Given the description of an element on the screen output the (x, y) to click on. 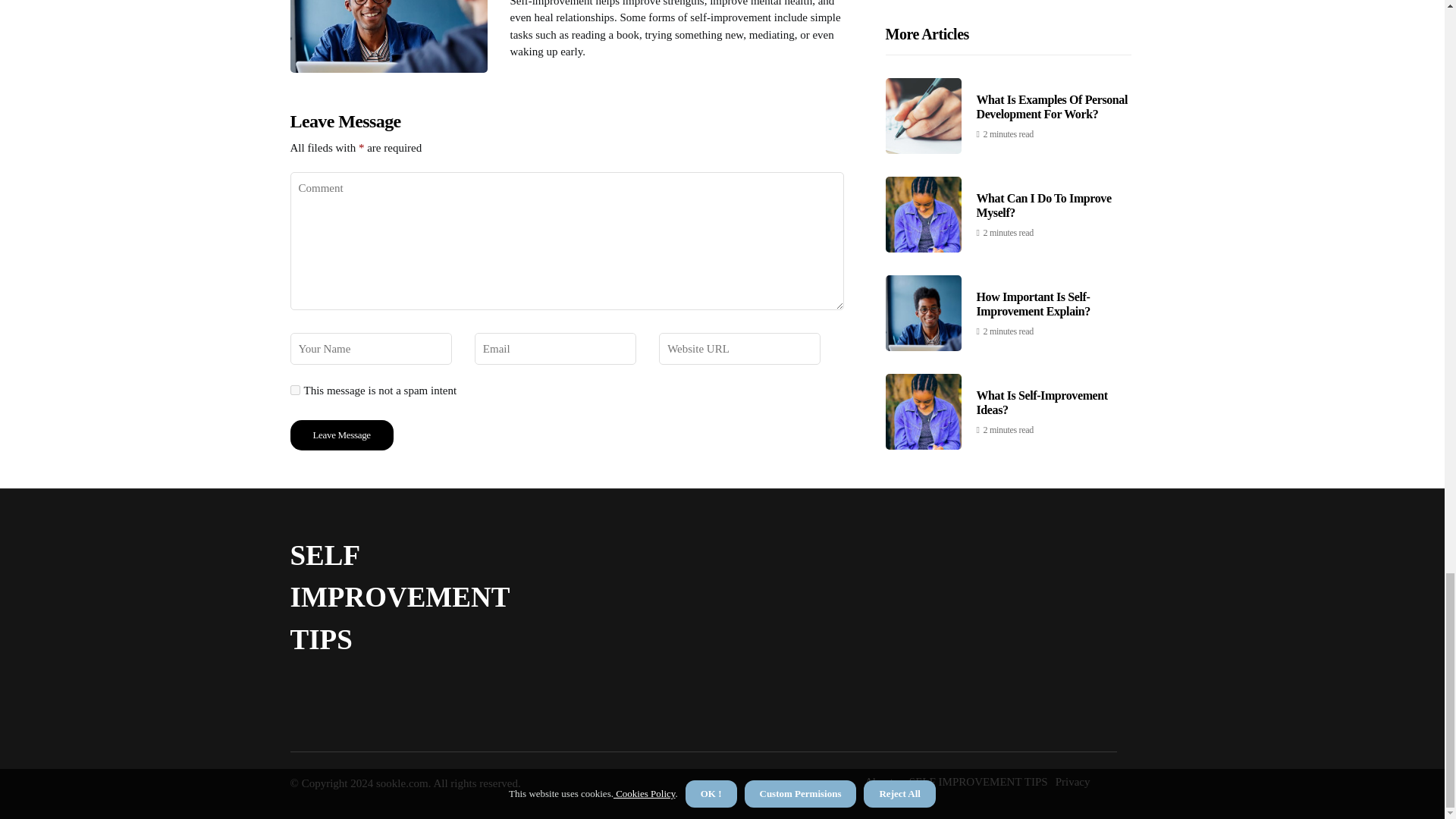
yes (294, 389)
Leave Message (341, 435)
Leave Message (341, 435)
